Given the description of an element on the screen output the (x, y) to click on. 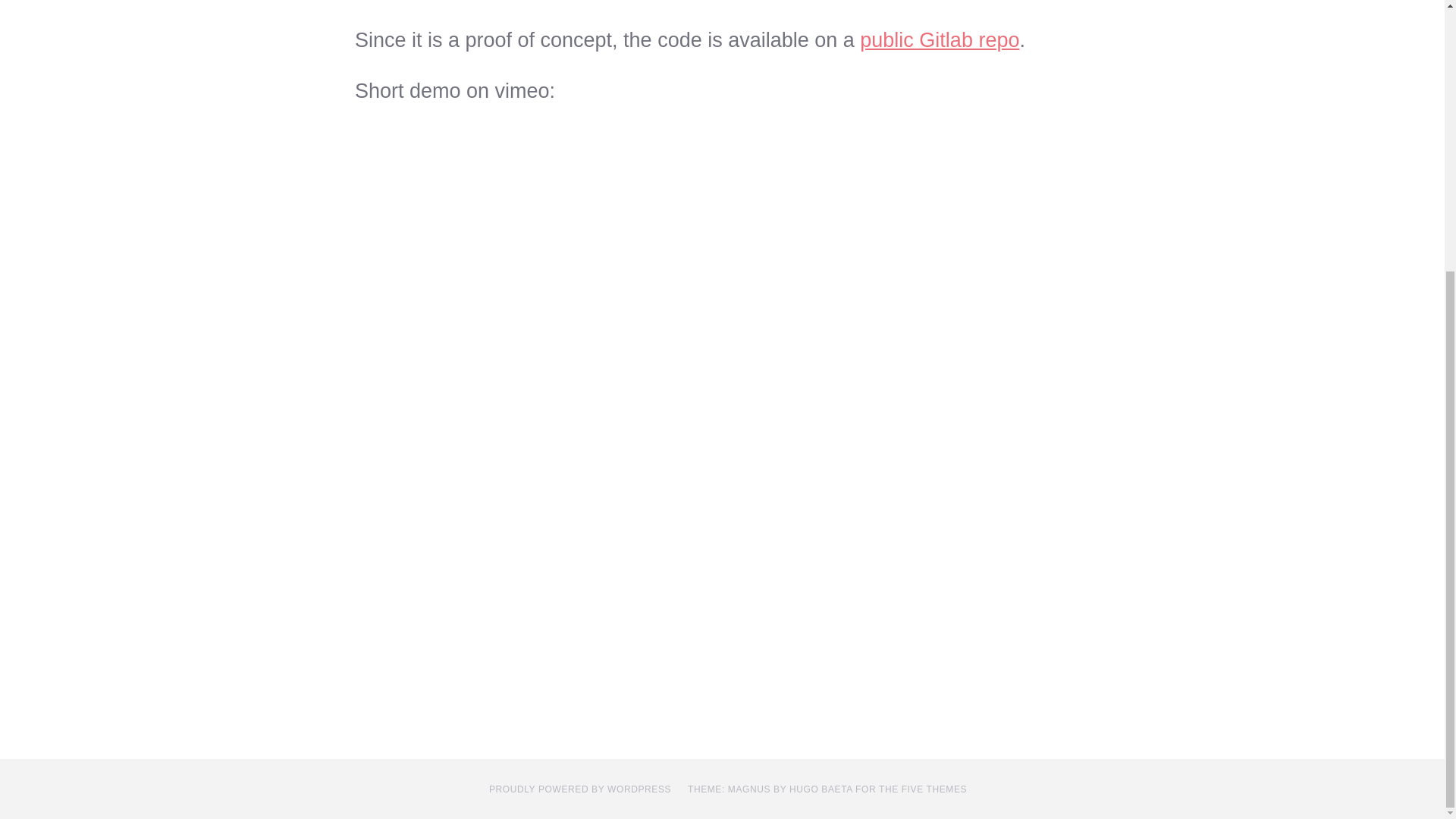
public Gitlab repo (939, 39)
PROUDLY POWERED BY WORDPRESS (580, 789)
THEME: MAGNUS BY HUGO BAETA FOR THE FIVE THEMES (826, 789)
